Given the description of an element on the screen output the (x, y) to click on. 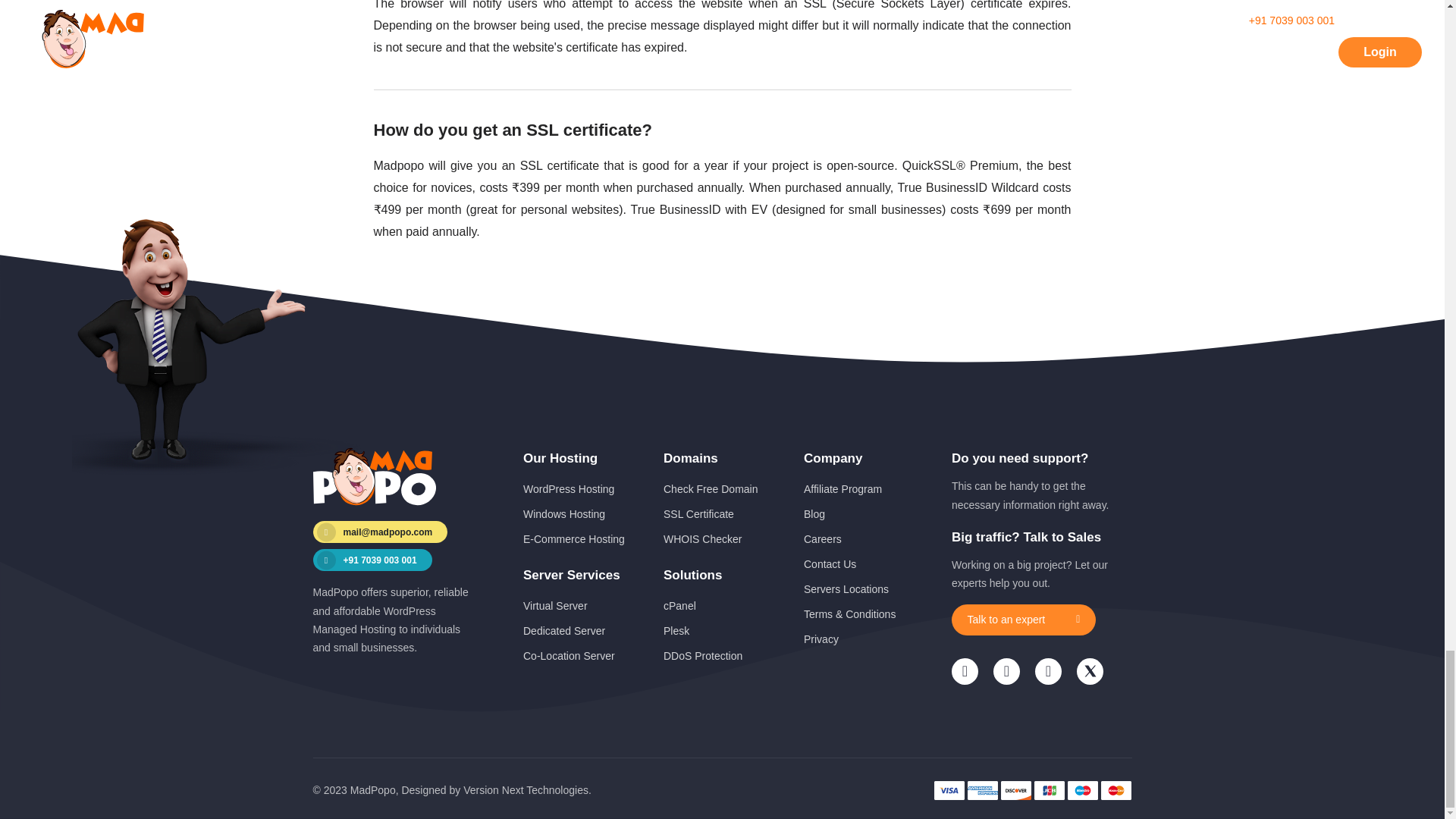
Virtual Server (555, 605)
E-Commerce Hosting (573, 539)
Windows Hosting (563, 513)
WordPress Hosting (568, 489)
